Given the description of an element on the screen output the (x, y) to click on. 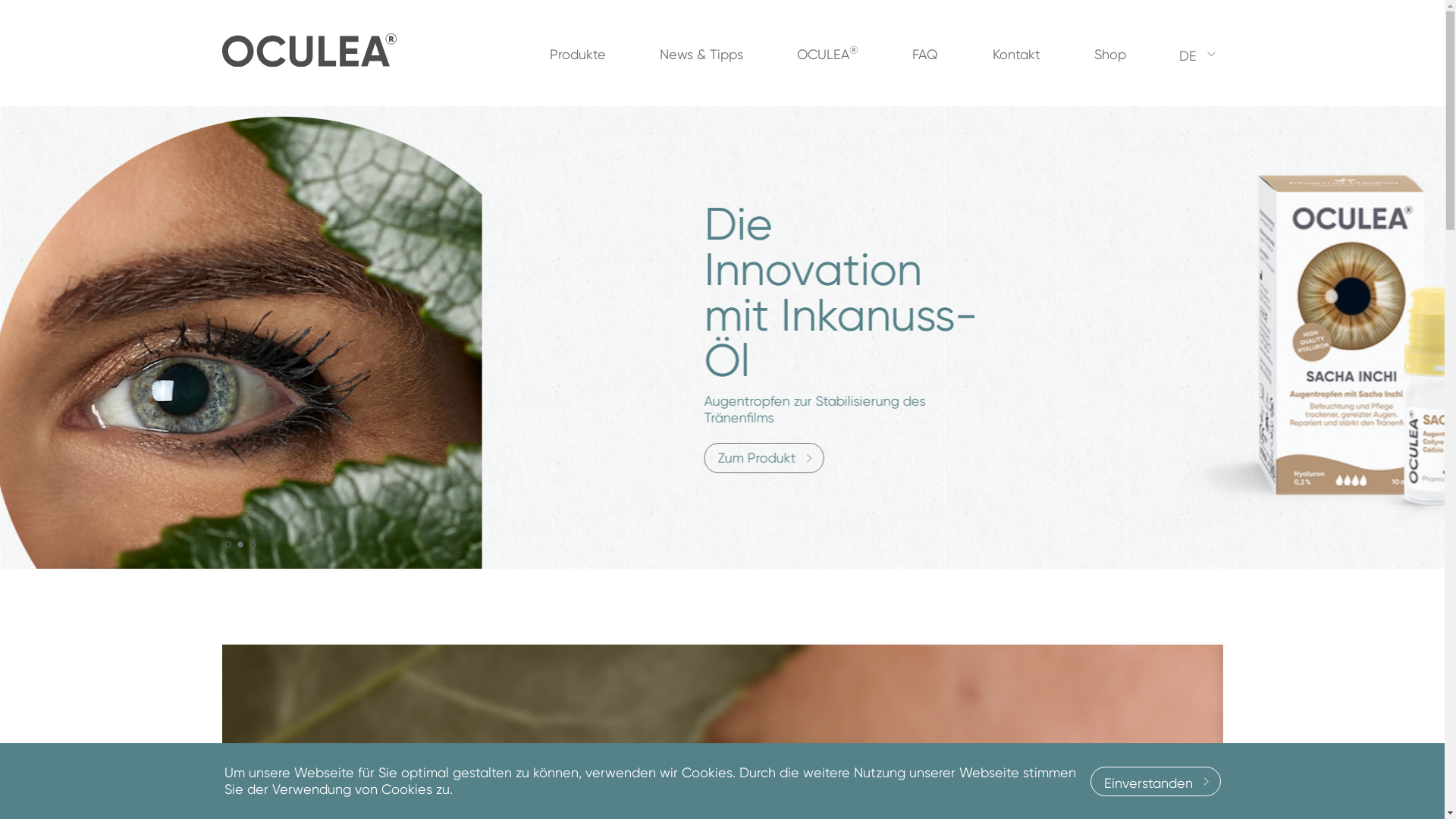
News & Tipps Element type: text (701, 54)
Einverstanden Element type: text (1155, 780)
Produkte Element type: text (577, 54)
FAQ Element type: text (924, 54)
Shop Element type: text (1109, 54)
DE Element type: text (1187, 53)
Kontakt Element type: text (1016, 54)
Zum Produkt Element type: text (281, 457)
